Given the description of an element on the screen output the (x, y) to click on. 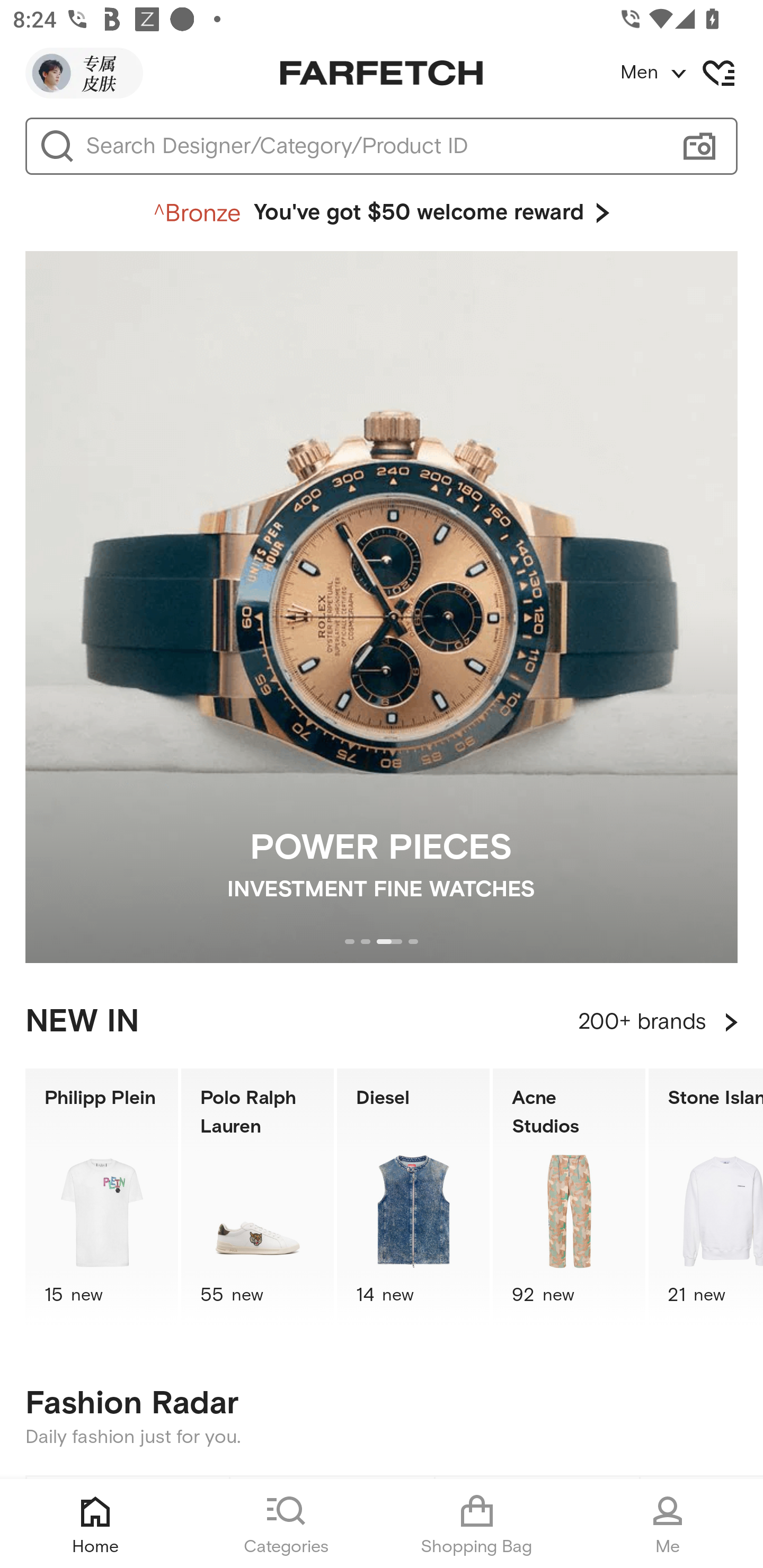
Men (691, 72)
Search Designer/Category/Product ID (373, 146)
You've got $50 welcome reward (381, 213)
NEW IN 200+ brands (381, 1021)
Philipp Plein 15  new (101, 1196)
Polo Ralph Lauren 55  new (257, 1196)
Diesel 14  new (413, 1196)
Acne Studios 92  new (568, 1196)
Stone Island 21  new (705, 1196)
Categories (285, 1523)
Shopping Bag (476, 1523)
Me (667, 1523)
